Given the description of an element on the screen output the (x, y) to click on. 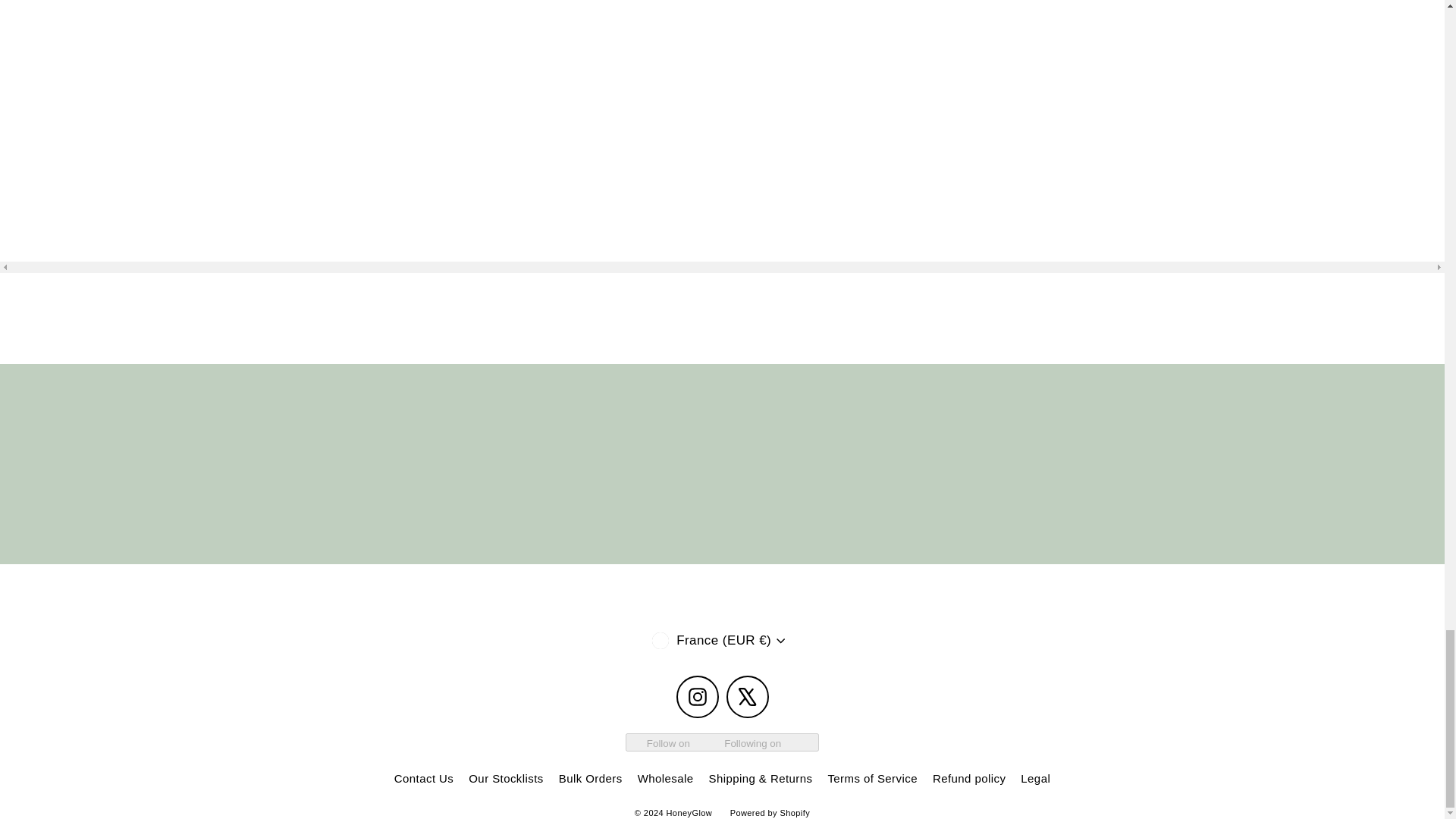
HoneyGlow on X (747, 696)
instagram (697, 696)
HoneyGlow on Instagram (698, 696)
